Given the description of an element on the screen output the (x, y) to click on. 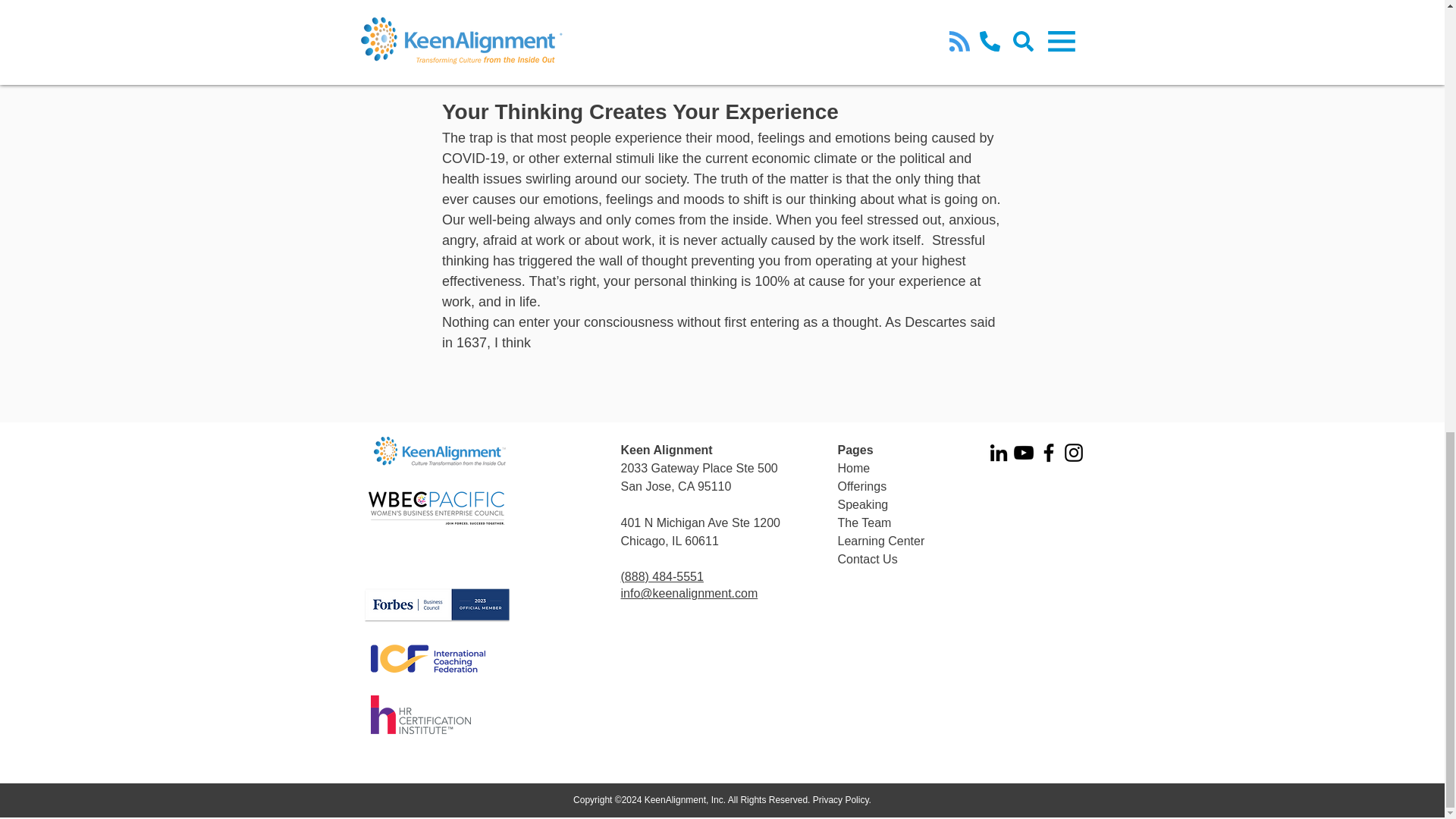
The Team (864, 522)
Speaking (862, 504)
FBC-Signature.png (437, 605)
Offerings (861, 486)
Learning Center (880, 540)
Contact Us (866, 558)
Home (853, 468)
